Given the description of an element on the screen output the (x, y) to click on. 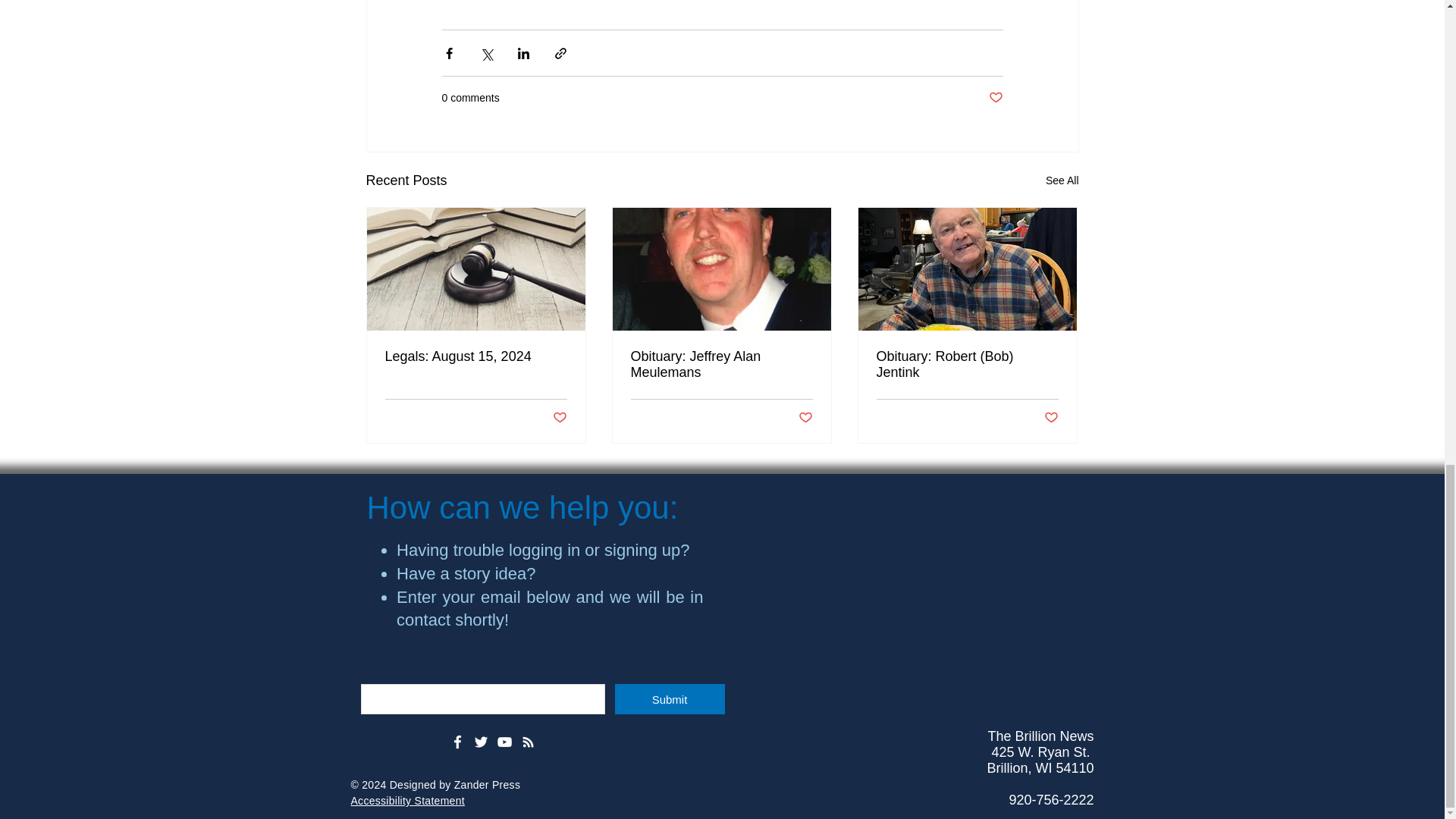
Legals: August 15, 2024 (476, 356)
See All (1061, 180)
Obituary: Jeffrey Alan Meulemans (721, 364)
Post not marked as liked (558, 417)
Post not marked as liked (995, 98)
